Given the description of an element on the screen output the (x, y) to click on. 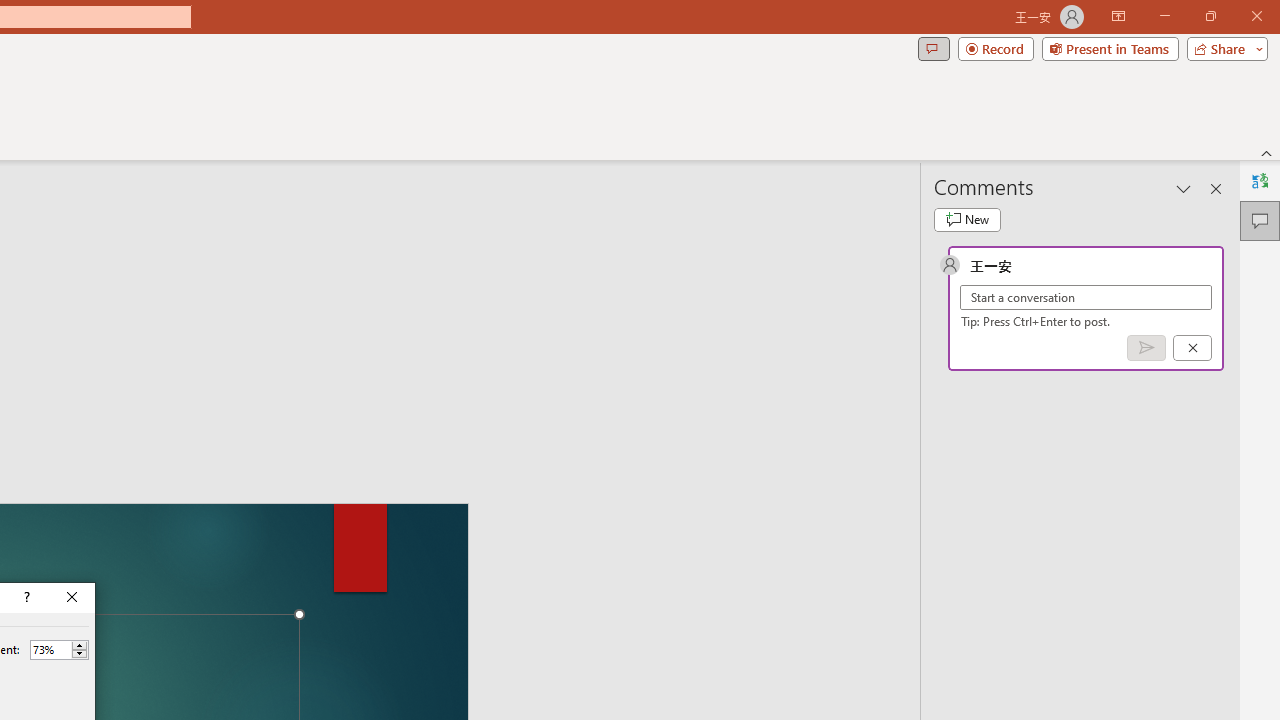
Translator (1260, 180)
Post comment (Ctrl + Enter) (1146, 347)
Start a conversation (1085, 297)
New comment (967, 219)
More (79, 645)
Percent (59, 650)
Context help (25, 597)
